Given the description of an element on the screen output the (x, y) to click on. 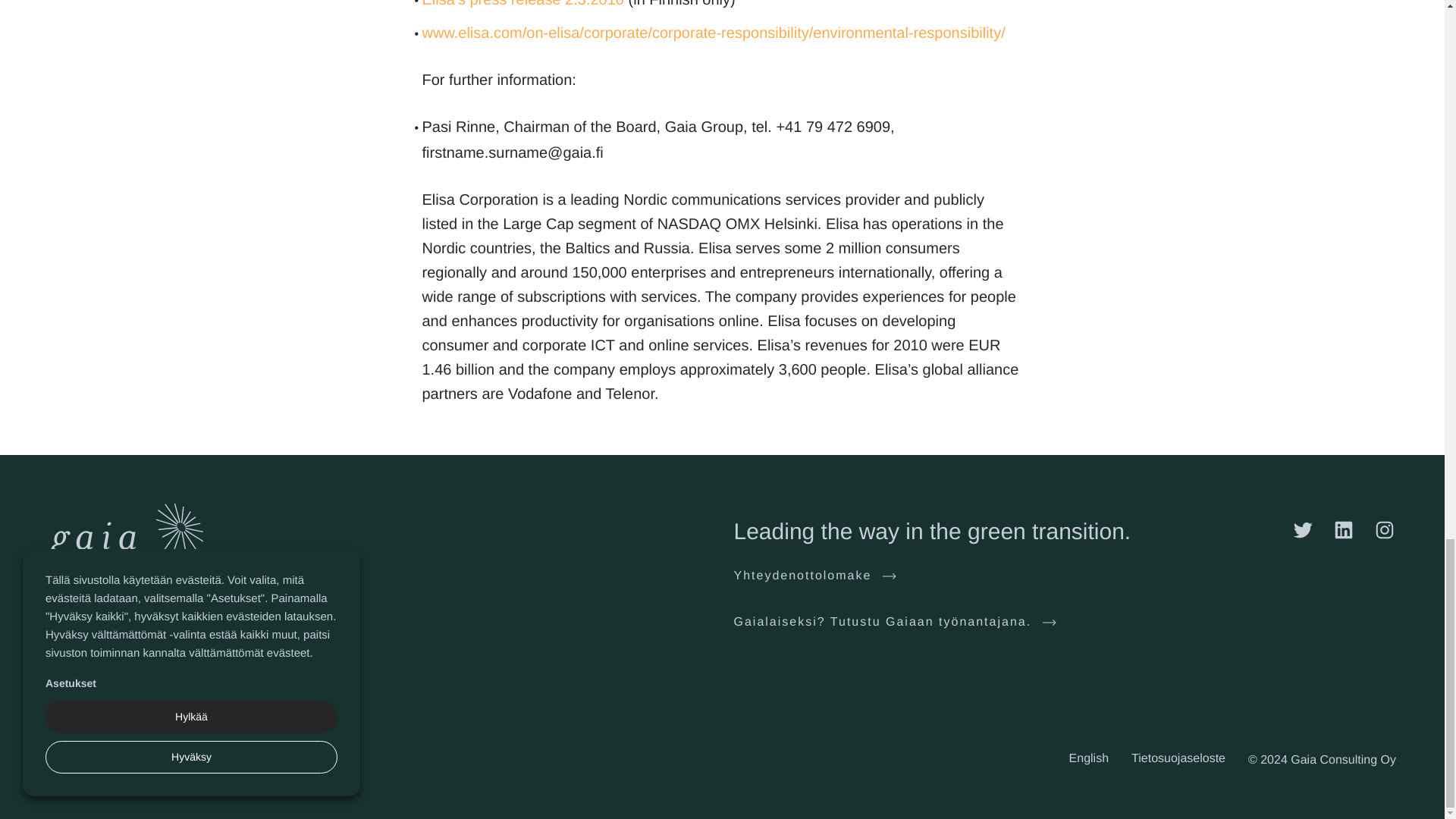
Instagram (1384, 529)
English (1088, 758)
Twitter (1302, 529)
Tietosuojaseloste (1178, 758)
LinkedIn (1343, 529)
Yhteydenottolomake (814, 576)
